Given the description of an element on the screen output the (x, y) to click on. 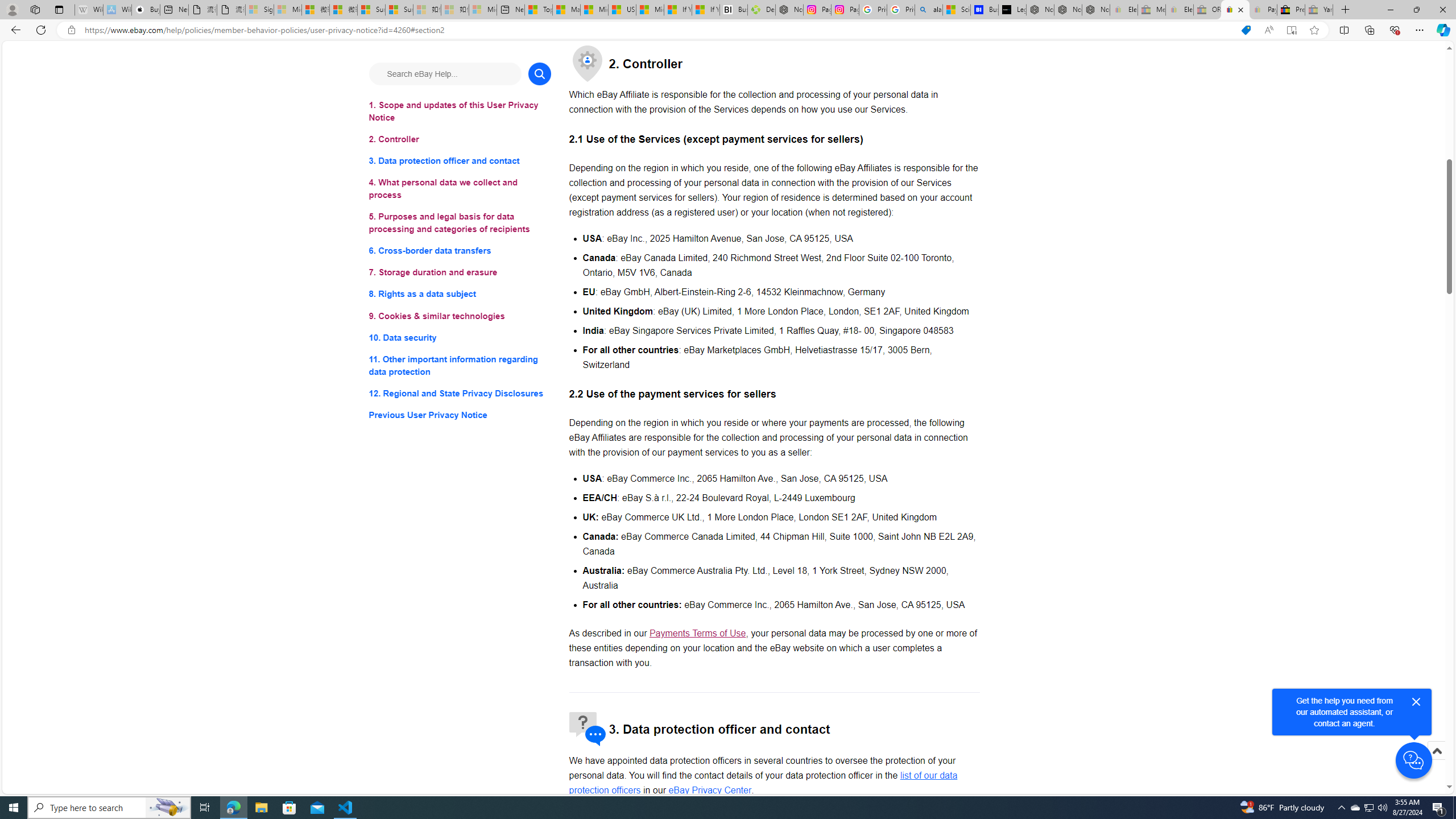
1. Scope and updates of this User Privacy Notice (459, 111)
Previous User Privacy Notice (459, 414)
This site has coupons! Shopping in Microsoft Edge (1245, 29)
9. Cookies & similar technologies (459, 315)
3. Data protection officer and contact (459, 160)
1. Scope and updates of this User Privacy Notice (459, 111)
Scroll to top (1435, 762)
